Given the description of an element on the screen output the (x, y) to click on. 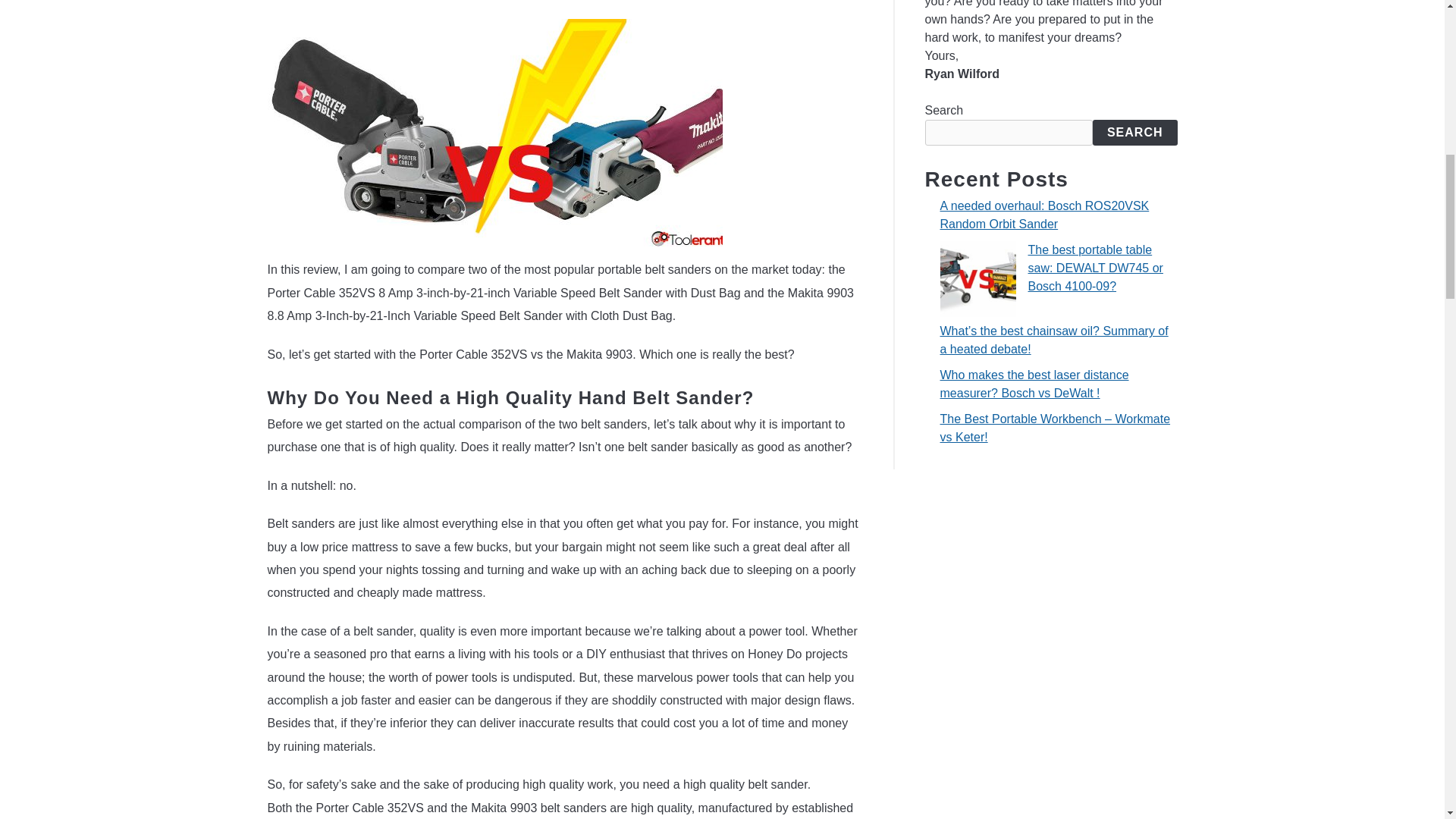
The best portable table saw: DEWALT DW745 or Bosch 4100-09? (1095, 267)
SEARCH (1135, 132)
A needed overhaul: Bosch ROS20VSK Random Orbit Sander (1045, 214)
